Given the description of an element on the screen output the (x, y) to click on. 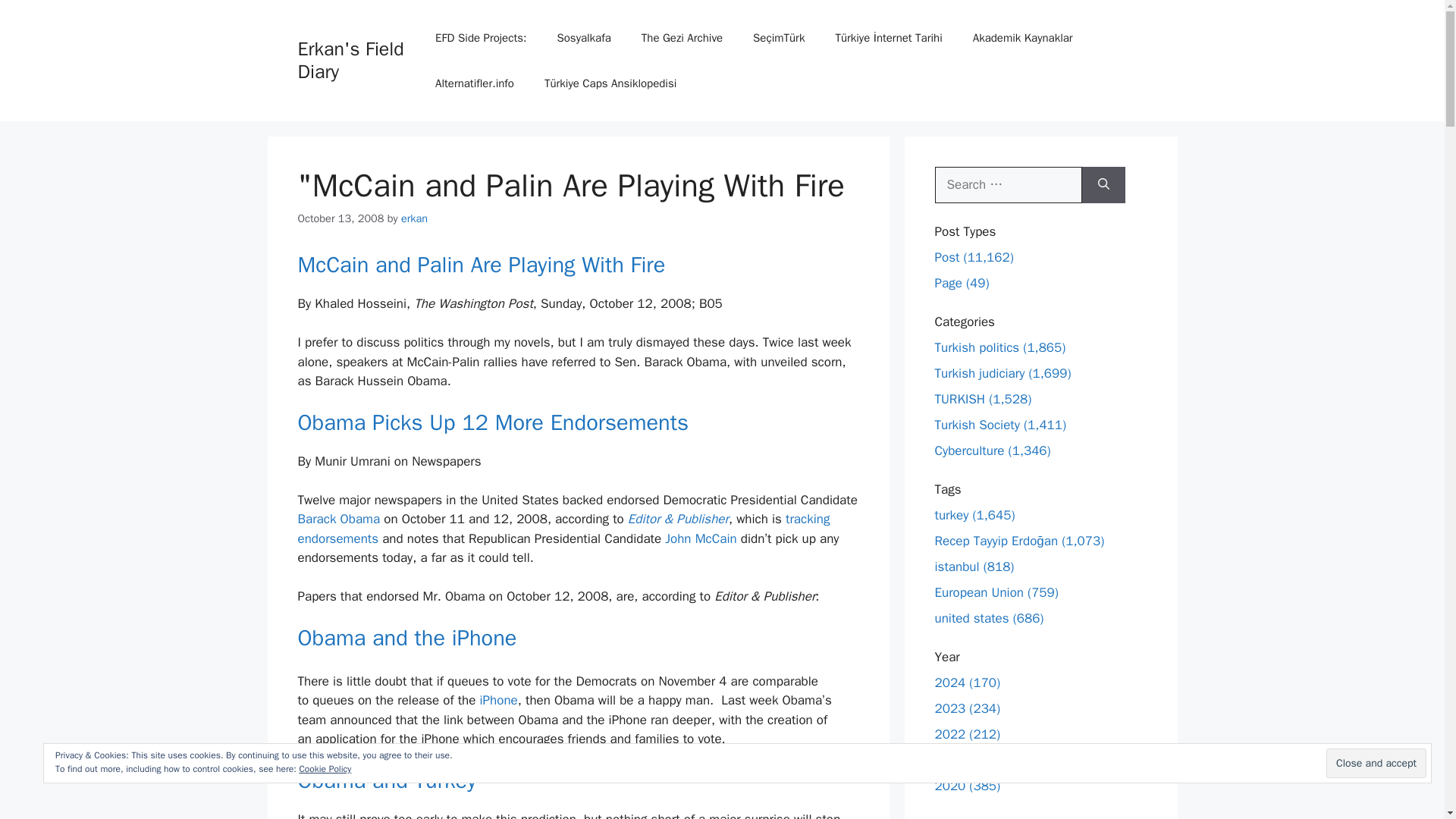
Site: The Blogging Journalist (492, 422)
Sosyalkafa (583, 37)
Site: Public Affairs 2.0 (406, 637)
Alternatifler.info (474, 83)
tracking endorsements (563, 529)
IPhone (499, 700)
EFD Side Projects: (480, 37)
The Gezi Archive (682, 37)
Close and accept (1376, 763)
